Given the description of an element on the screen output the (x, y) to click on. 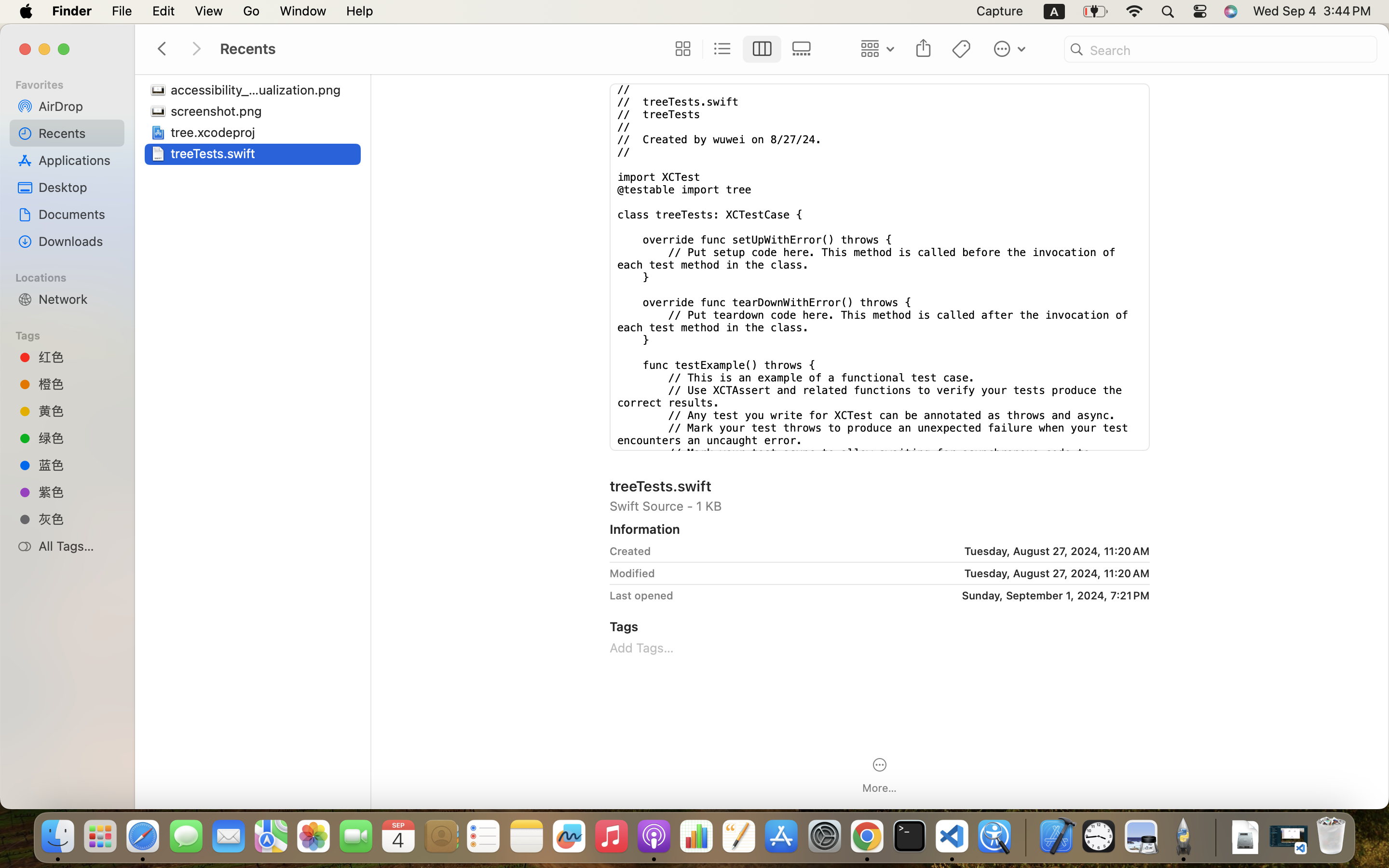
0 Element type: AXRadioButton (680, 48)
黄色 Element type: AXStaticText (77, 410)
Modified Element type: AXStaticText (631, 572)
AirDrop Element type: AXStaticText (77, 105)
Downloads Element type: AXStaticText (77, 240)
